Given the description of an element on the screen output the (x, y) to click on. 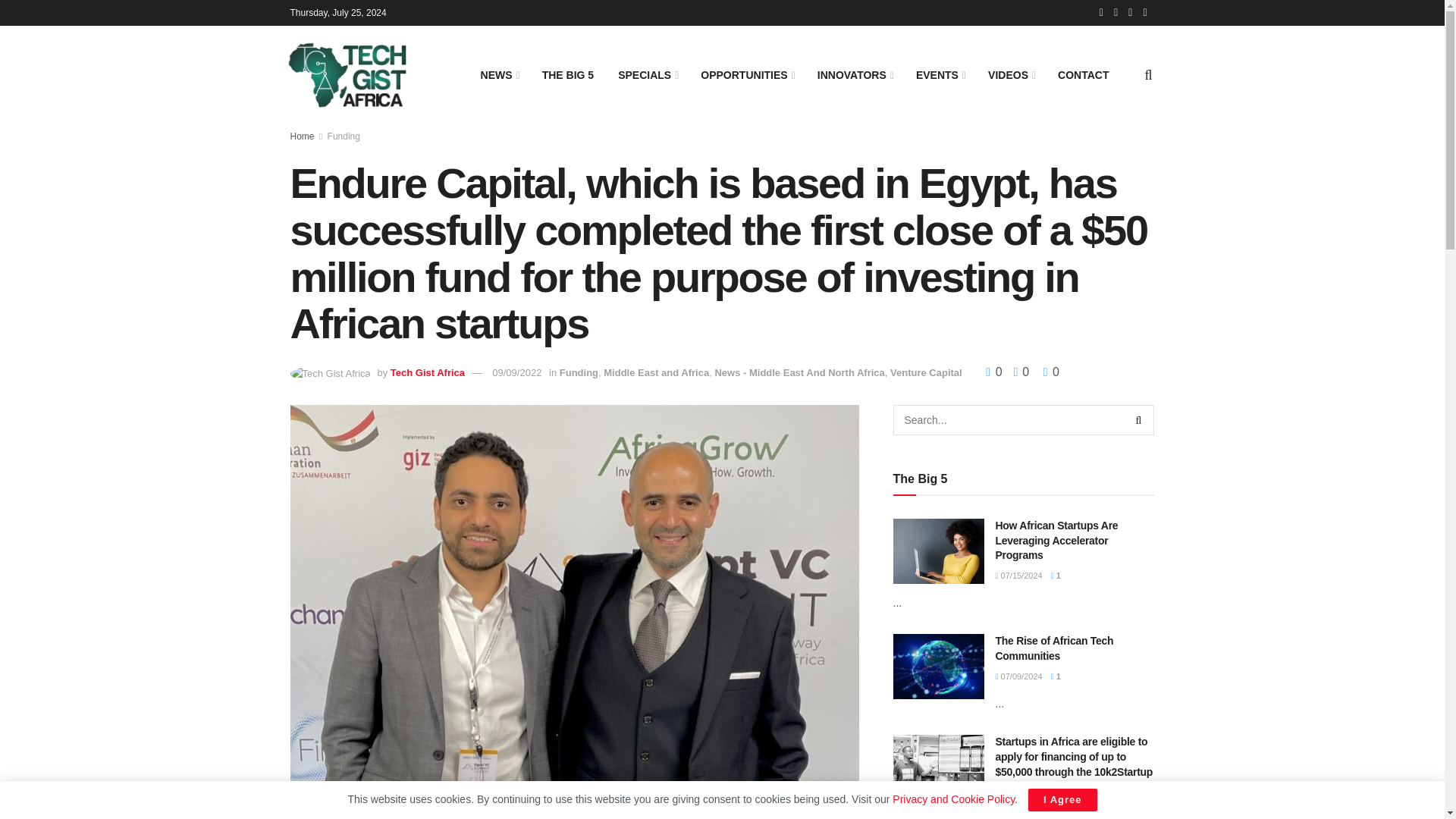
VIDEOS (1010, 75)
CONTACT (1083, 75)
OPPORTUNITIES (746, 75)
NEWS (498, 75)
SPECIALS (646, 75)
INNOVATORS (854, 75)
EVENTS (939, 75)
THE BIG 5 (567, 75)
